Given the description of an element on the screen output the (x, y) to click on. 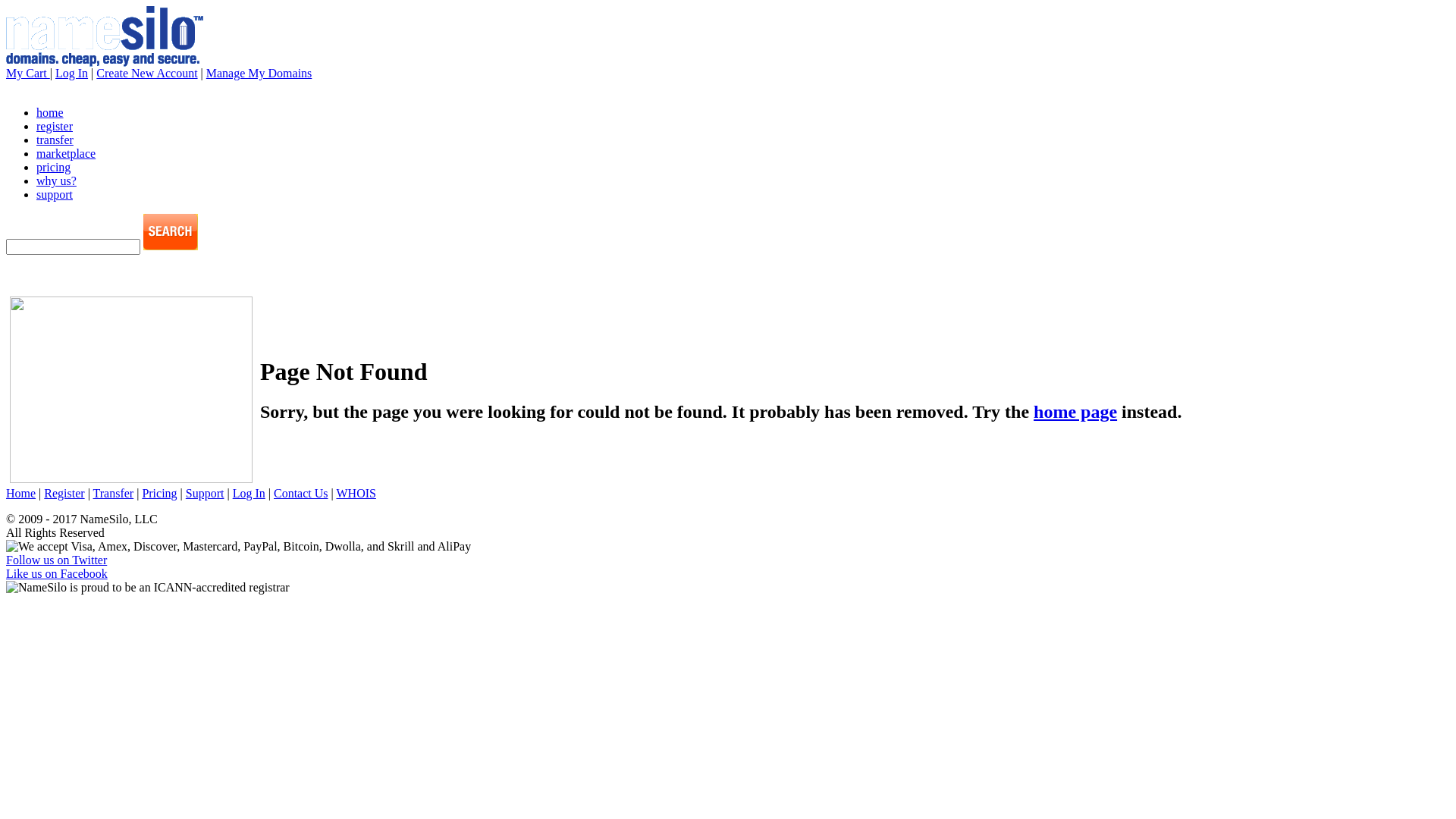
Follow us on Twitter Element type: text (56, 559)
transfer Element type: text (54, 139)
Home Element type: text (20, 492)
Transfer Element type: text (113, 492)
NameSilo is proud to be an ICANN-accredited registrar Element type: hover (147, 587)
Log In Element type: text (71, 72)
WHOIS Element type: text (355, 492)
marketplace Element type: text (65, 153)
support Element type: text (54, 194)
Contact Us Element type: text (300, 492)
register Element type: text (54, 125)
Support Element type: text (204, 492)
Log In Element type: text (248, 492)
pricing Element type: text (53, 166)
Create New Account Element type: text (146, 72)
Manage My Domains Element type: text (259, 72)
home Element type: text (49, 112)
My Cart Element type: text (28, 72)
Register Element type: text (63, 492)
Like us on Facebook Element type: text (56, 573)
why us? Element type: text (56, 180)
home page Element type: text (1075, 411)
Pricing Element type: text (158, 492)
